Given the description of an element on the screen output the (x, y) to click on. 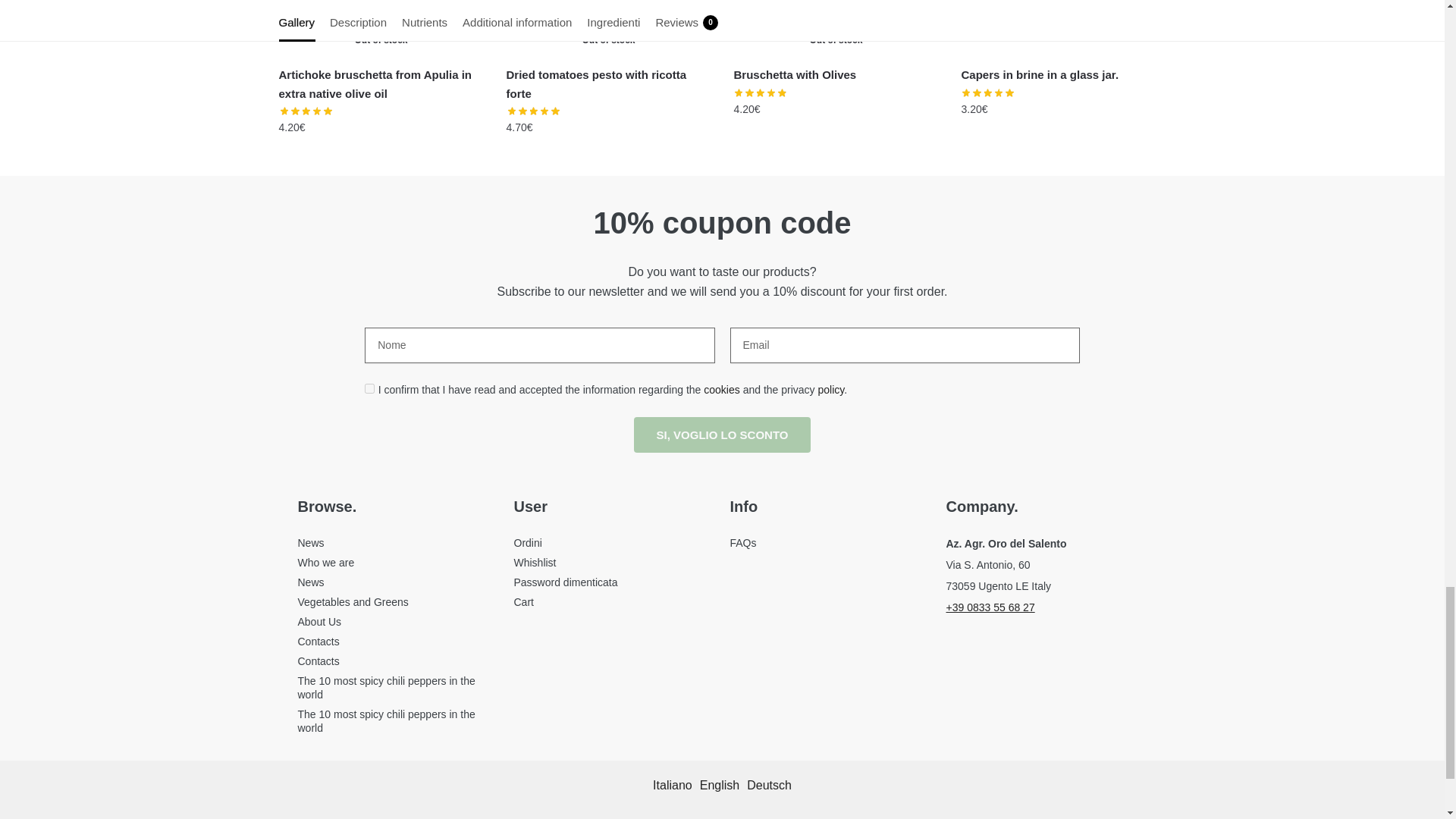
Bruschetta with Olives (835, 27)
Dried tomatoes pesto with ricotta forte (608, 27)
Artichoke bruschetta from Apulia in extra native olive oil (381, 27)
Capers in brine in a glass jar. (1063, 27)
on (369, 388)
